Given the description of an element on the screen output the (x, y) to click on. 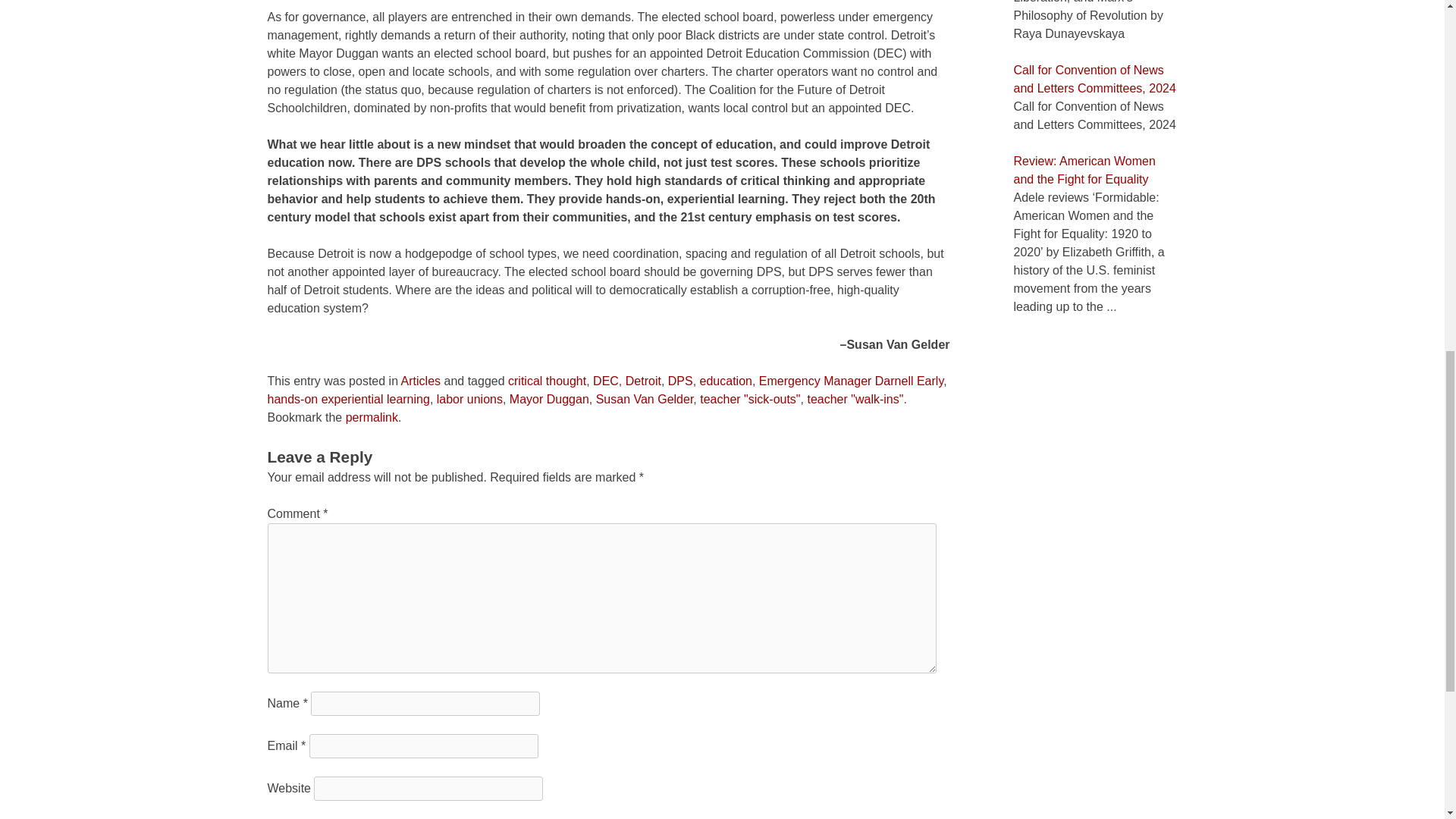
DPS (680, 380)
Call for Convention of News and Letters Committees, 2024 (1093, 79)
Review: American Women and the Fight for Equality (1083, 169)
teacher "walk-ins" (854, 399)
Detroit (643, 380)
labor unions (469, 399)
Mayor Duggan (549, 399)
Susan Van Gelder (644, 399)
Emergency Manager Darnell Early (850, 380)
teacher "sick-outs" (749, 399)
critical thought (547, 380)
DEC (605, 380)
hands-on experiential learning (347, 399)
Articles (421, 380)
permalink (371, 417)
